Given the description of an element on the screen output the (x, y) to click on. 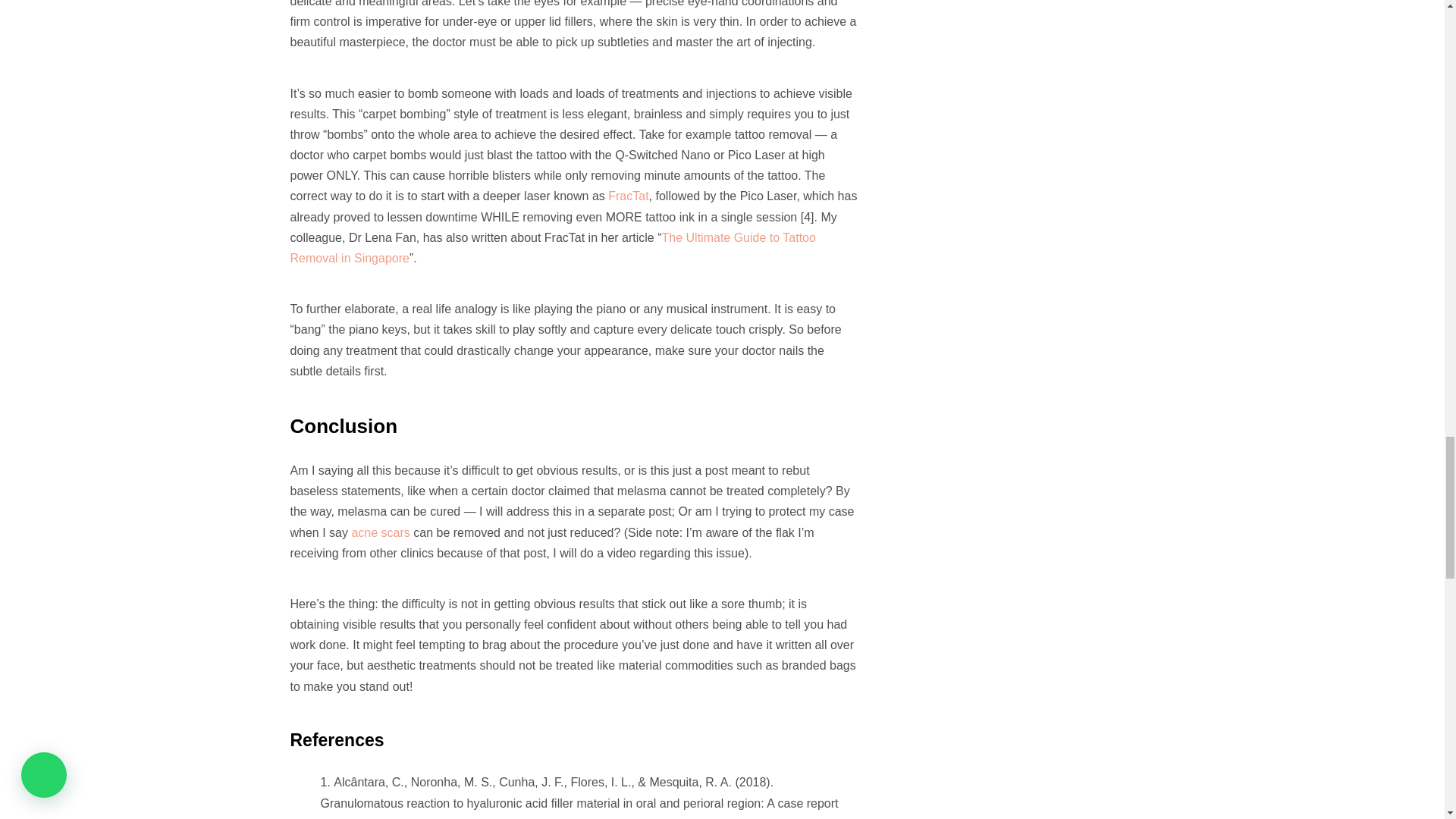
FracTat (627, 195)
The Ultimate Guide to Tattoo Removal in Singapore (552, 247)
acne scars (379, 532)
